Given the description of an element on the screen output the (x, y) to click on. 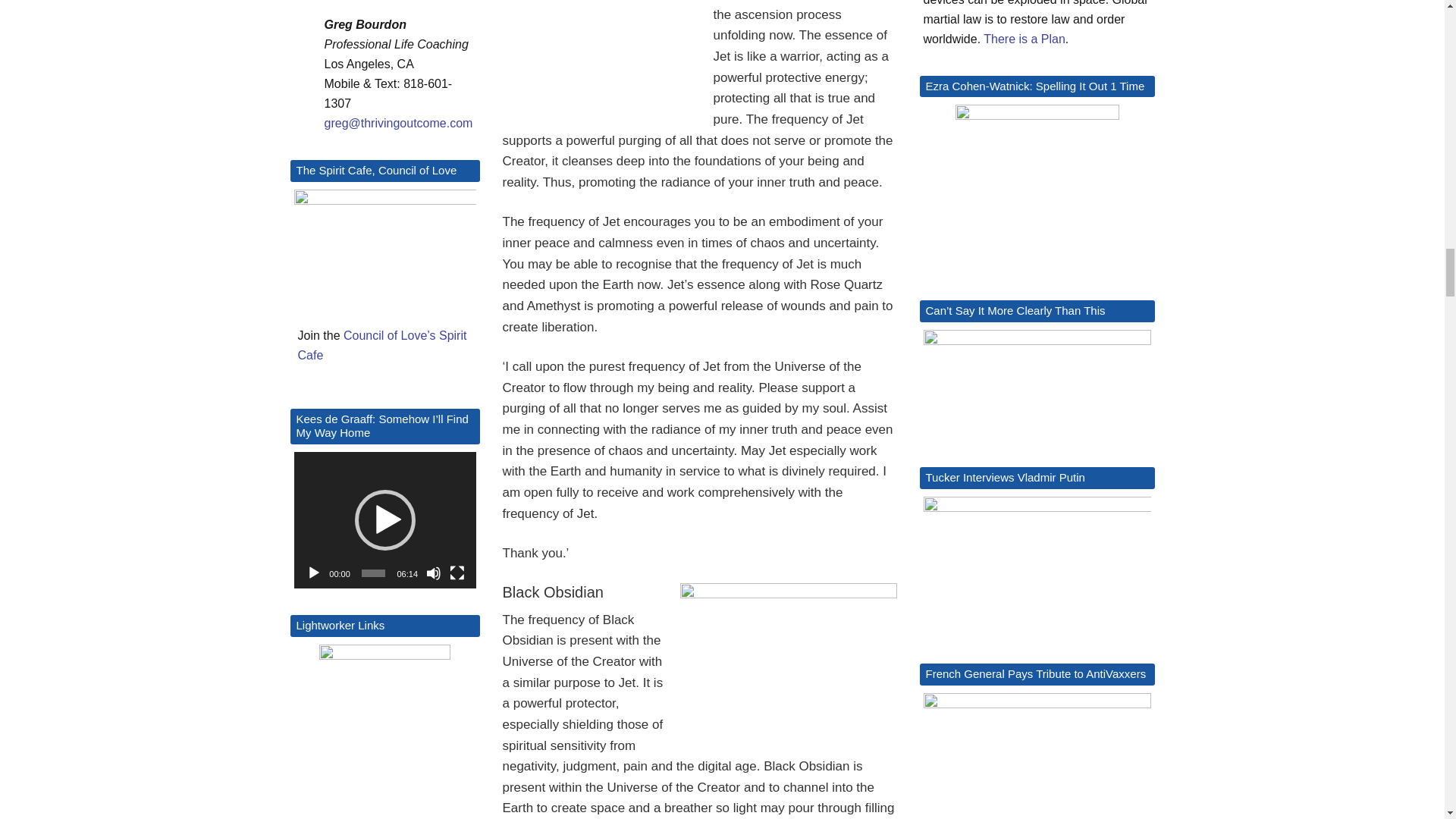
Play (313, 572)
Fullscreen (456, 572)
Mute (433, 572)
